Given the description of an element on the screen output the (x, y) to click on. 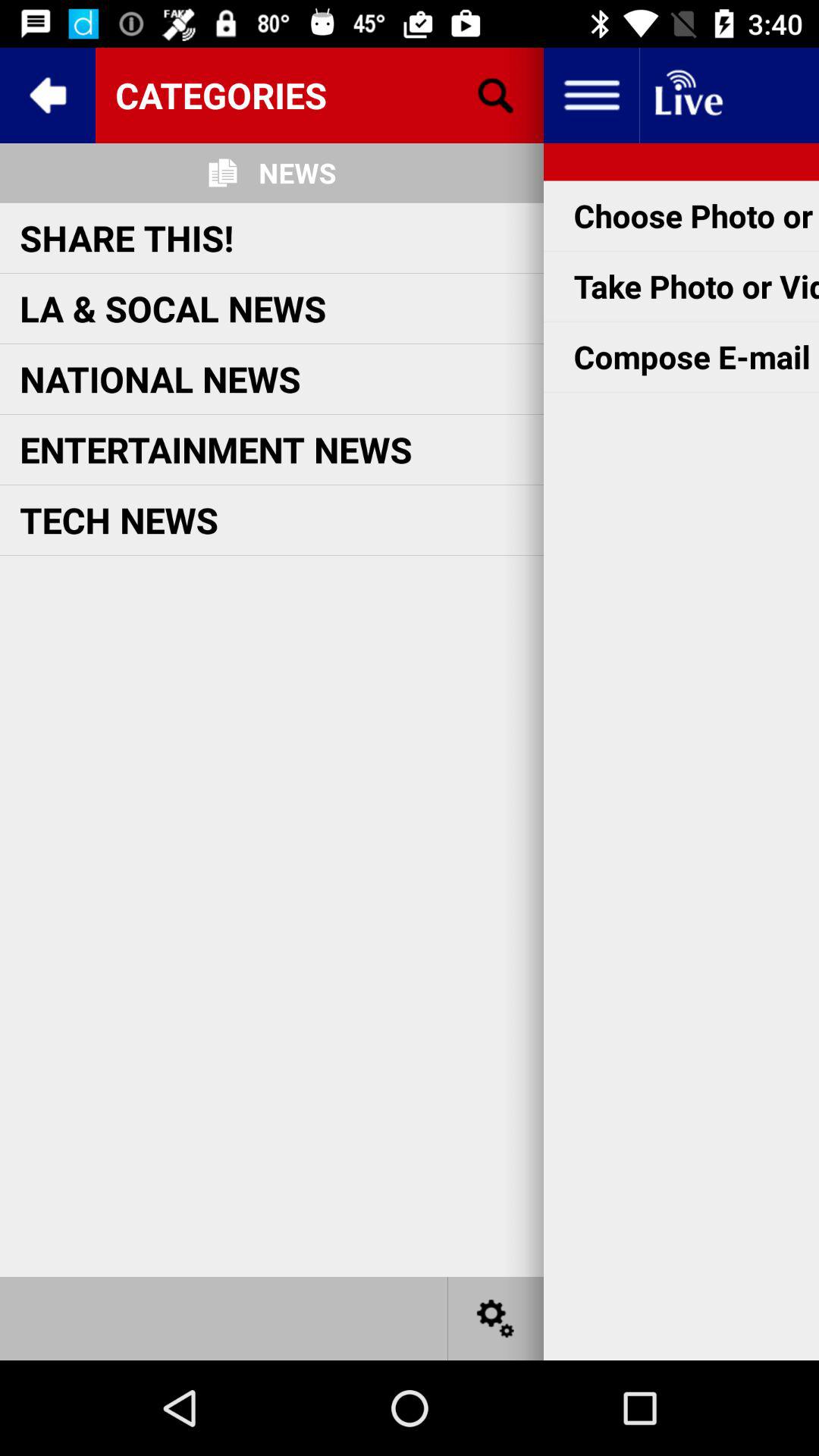
go back (47, 95)
